Given the description of an element on the screen output the (x, y) to click on. 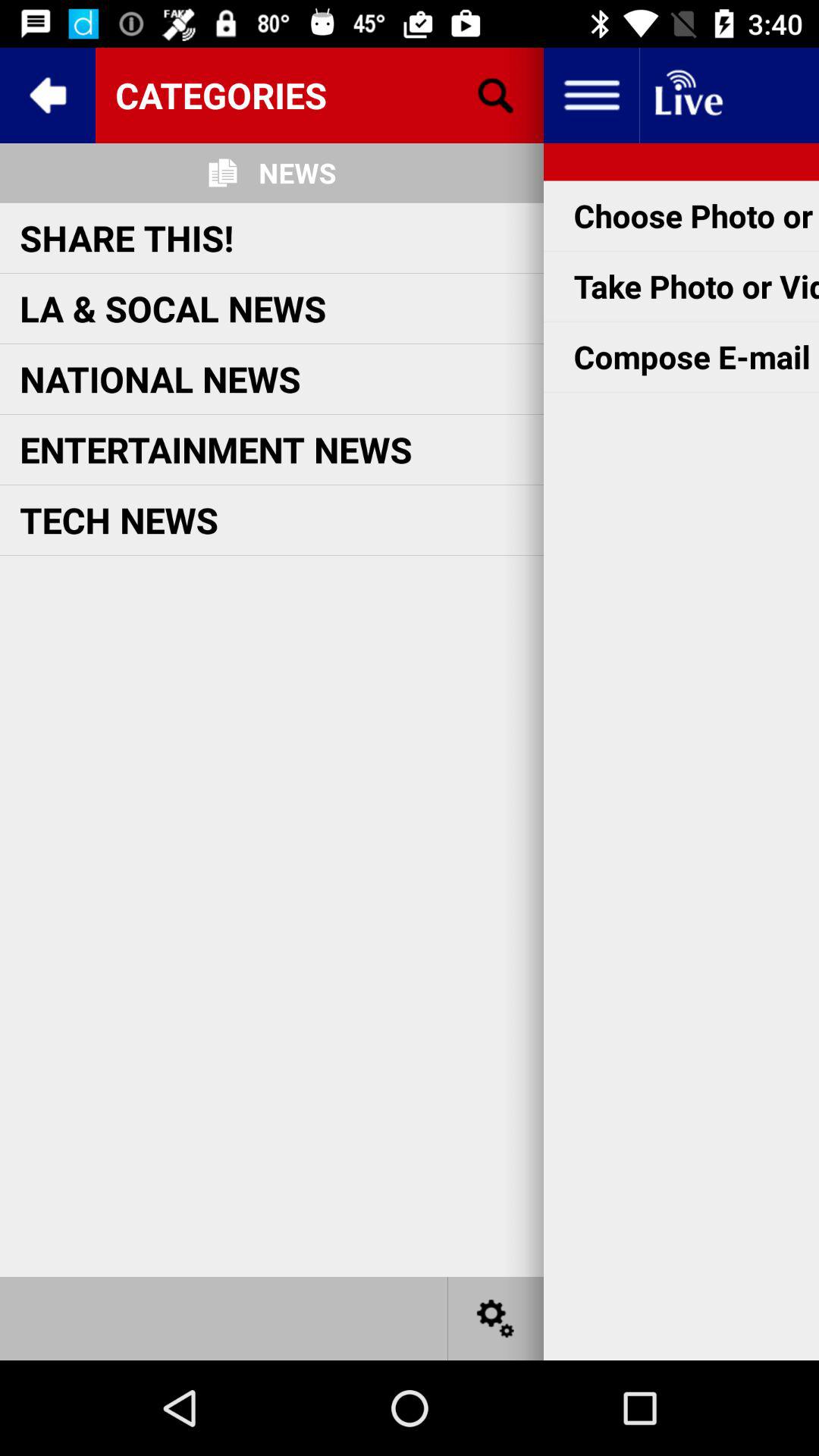
go back (47, 95)
